Given the description of an element on the screen output the (x, y) to click on. 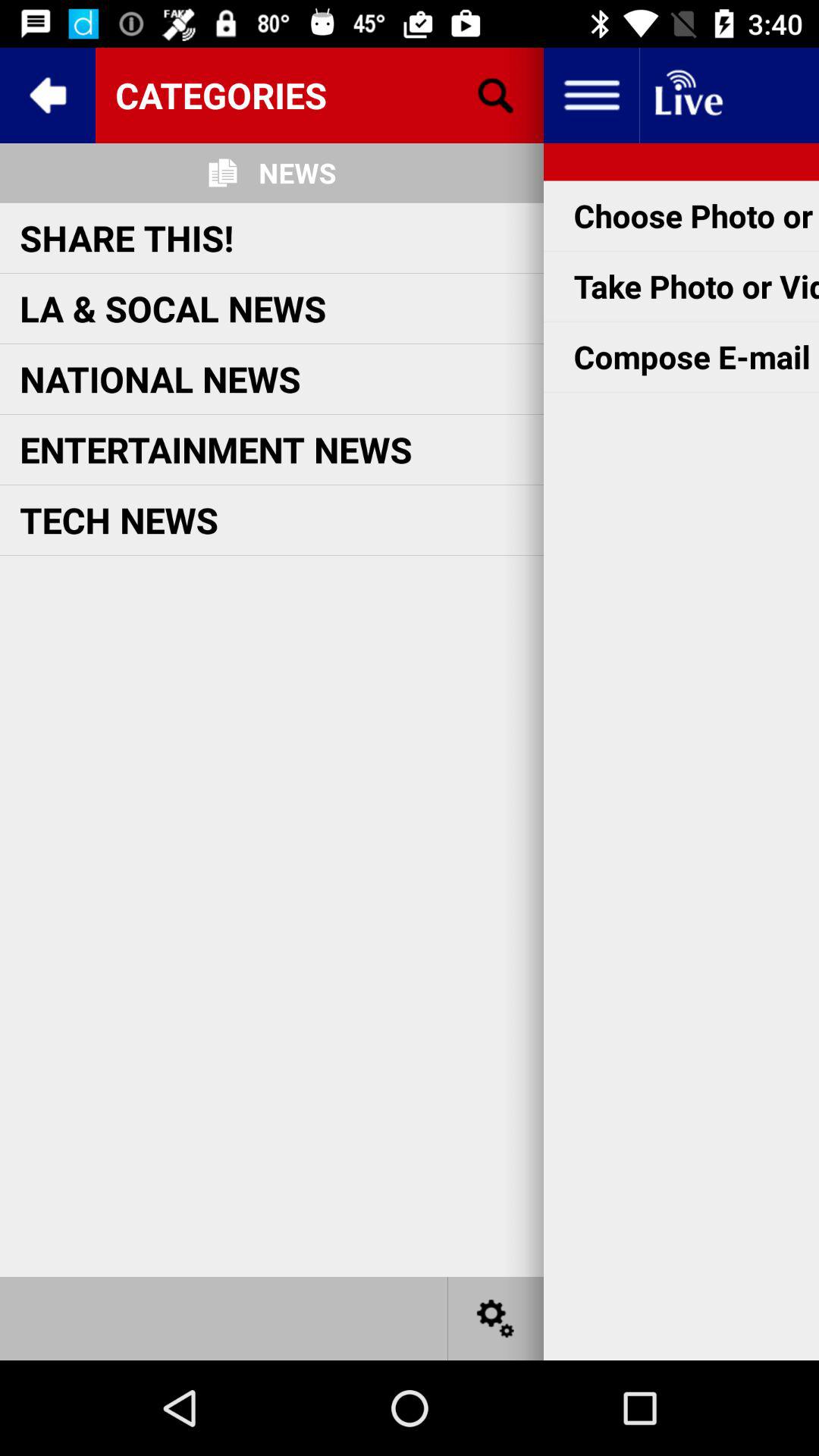
go back (47, 95)
